Given the description of an element on the screen output the (x, y) to click on. 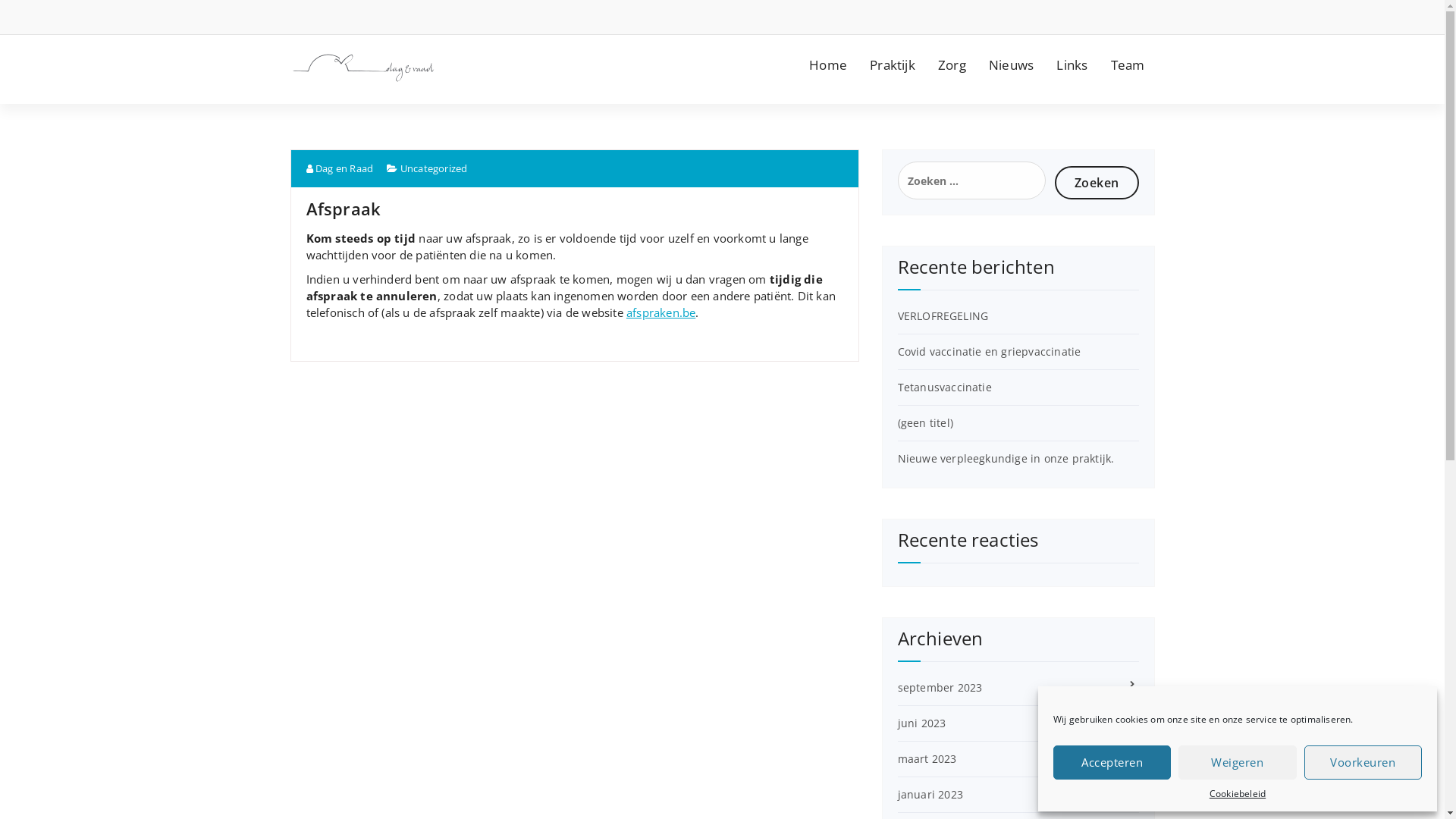
Nieuws Element type: text (1011, 64)
Zorg Element type: text (951, 64)
maart 2023 Element type: text (927, 758)
Dag en Raad Element type: text (339, 168)
Tetanusvaccinatie Element type: text (944, 386)
Home Element type: text (827, 64)
Cookiebeleid Element type: text (1237, 793)
Links Element type: text (1071, 64)
Praktijk Element type: text (892, 64)
afspraken.be Element type: text (660, 312)
Uncategorized Element type: text (433, 168)
september 2023 Element type: text (939, 687)
Team Element type: text (1127, 64)
Voorkeuren Element type: text (1362, 762)
juni 2023 Element type: text (921, 722)
Nieuwe verpleegkundige in onze praktijk. Element type: text (1005, 458)
Zoeken Element type: text (1096, 181)
Covid vaccinatie en griepvaccinatie Element type: text (989, 351)
VERLOFREGELING Element type: text (942, 315)
januari 2023 Element type: text (930, 794)
Weigeren Element type: text (1236, 762)
Accepteren Element type: text (1111, 762)
(geen titel) Element type: text (925, 422)
